Given the description of an element on the screen output the (x, y) to click on. 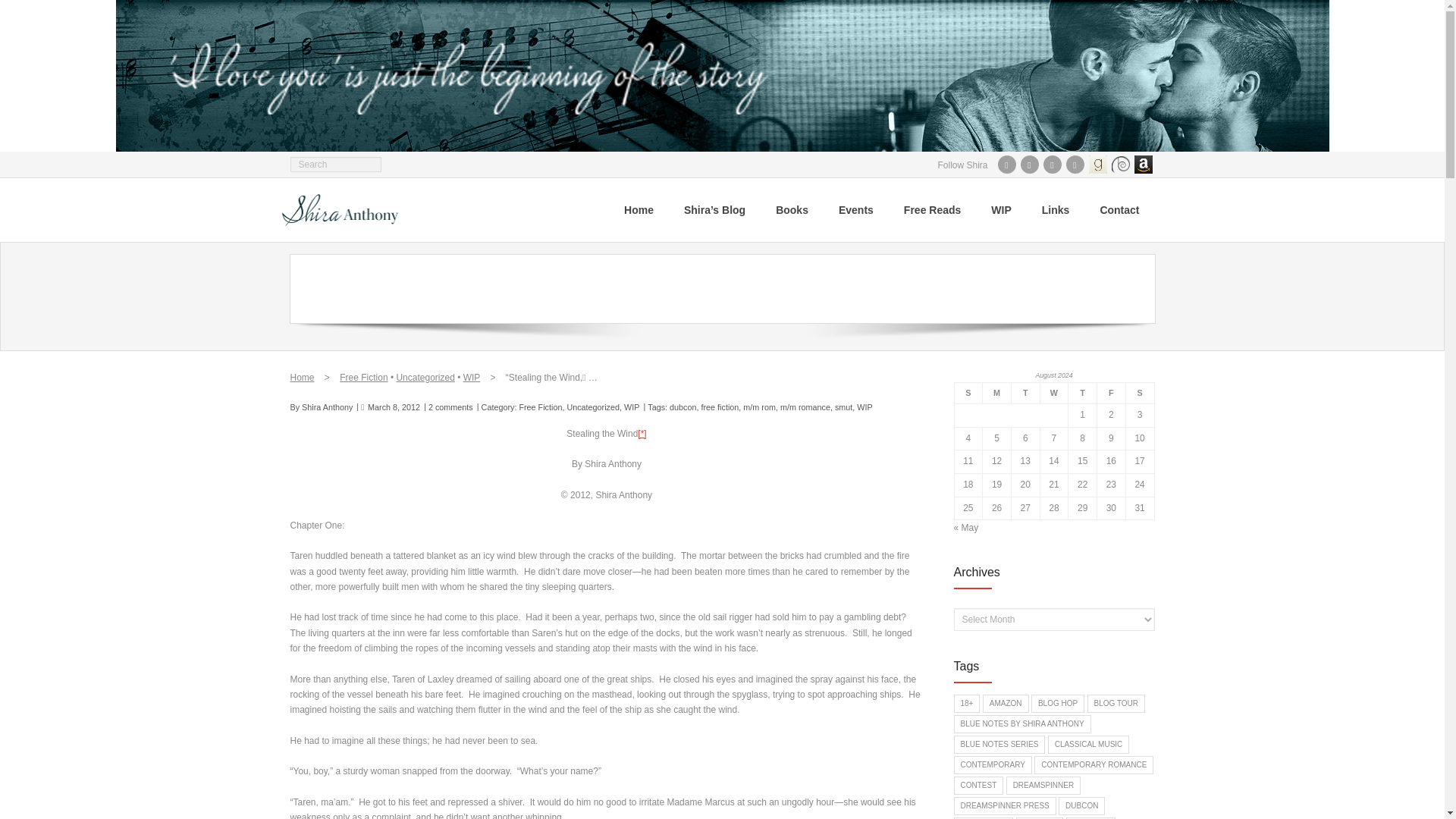
WIP (471, 377)
2 comments (450, 406)
Search (25, 10)
Contact (1119, 209)
Wednesday (1053, 392)
WIP (631, 406)
View all posts by Shira Anthony (326, 406)
Friday (1111, 392)
Free Fiction (540, 406)
Sunday (967, 392)
